Given the description of an element on the screen output the (x, y) to click on. 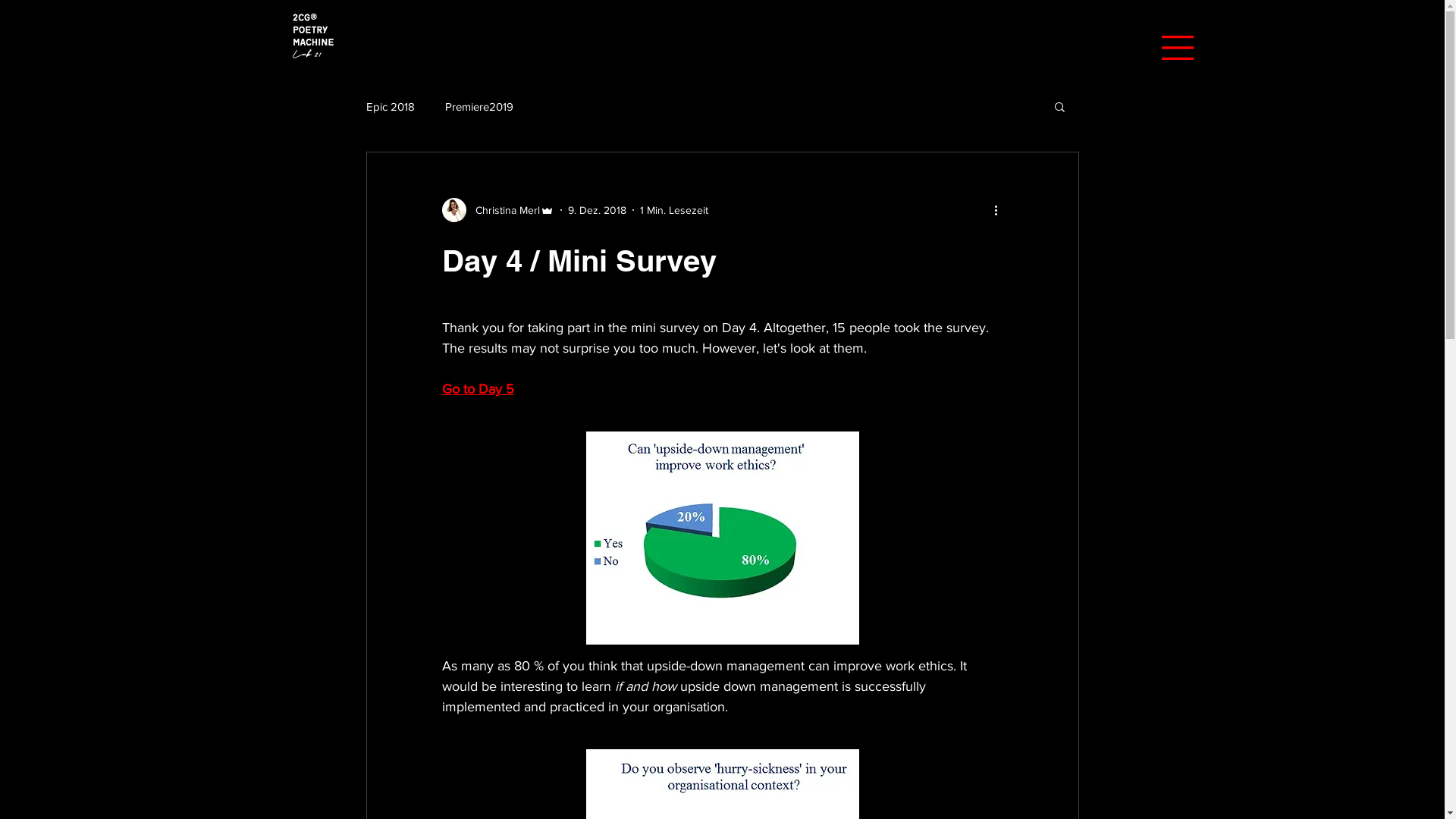
Go to Day 5 Element type: text (477, 388)
Epic 2018 Element type: text (389, 106)
Christina Merl Element type: text (497, 209)
Premiere2019 Element type: text (478, 106)
